Given the description of an element on the screen output the (x, y) to click on. 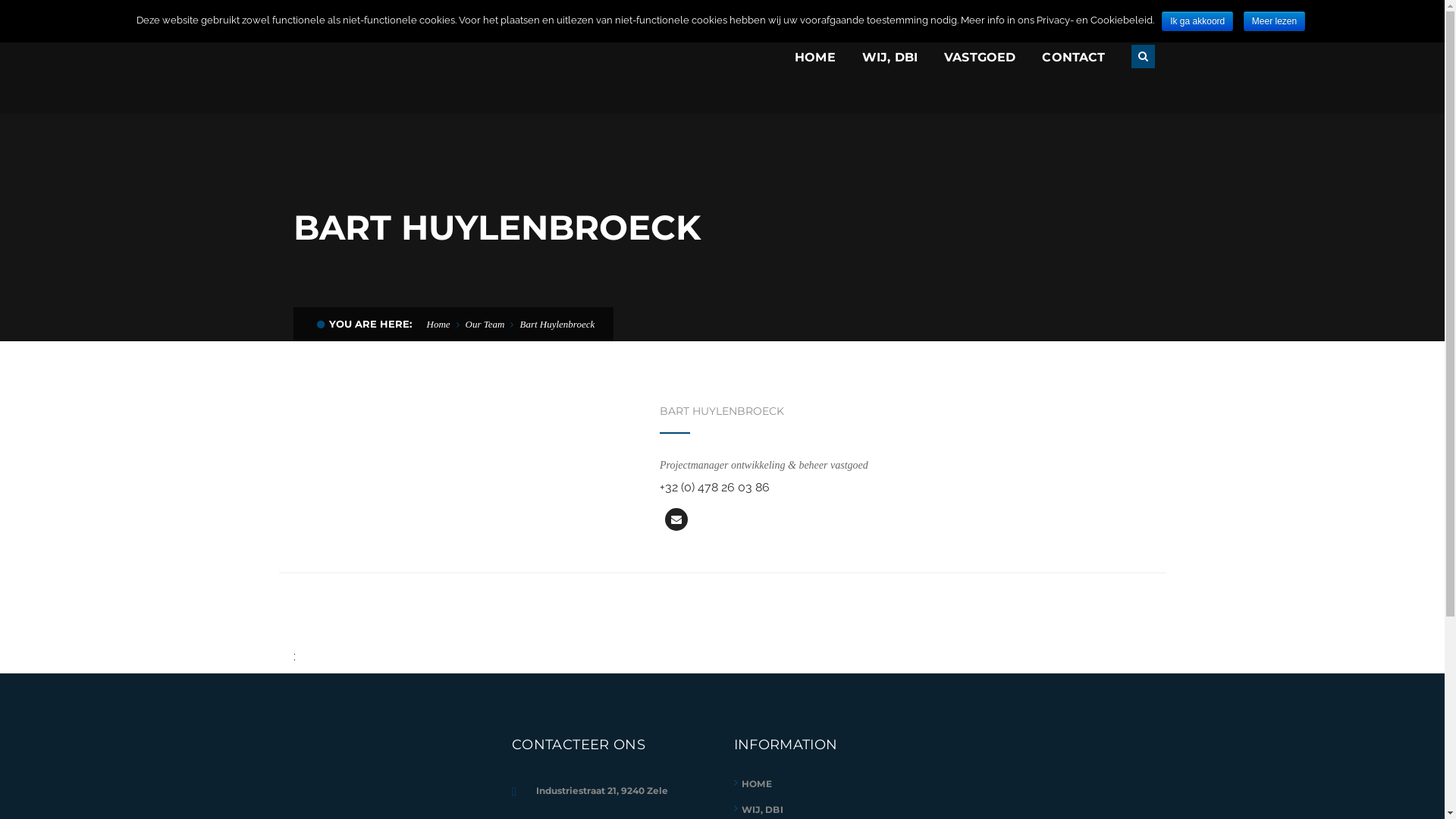
HOME Element type: text (814, 57)
Email Element type: hover (676, 519)
VASTGOED Element type: text (979, 57)
CONTACT Element type: text (1072, 57)
DBI - Succesvol ondernemen in vastgoed Element type: hover (403, 55)
Our Team Element type: text (485, 323)
HOME Element type: text (756, 783)
Meer lezen Element type: text (1274, 21)
WIJ, DBI Element type: text (762, 809)
BART HUYLENBROECK Element type: text (721, 410)
Home Element type: text (437, 323)
Ik ga akkoord Element type: text (1197, 21)
WIJ, DBI Element type: text (889, 57)
